Given the description of an element on the screen output the (x, y) to click on. 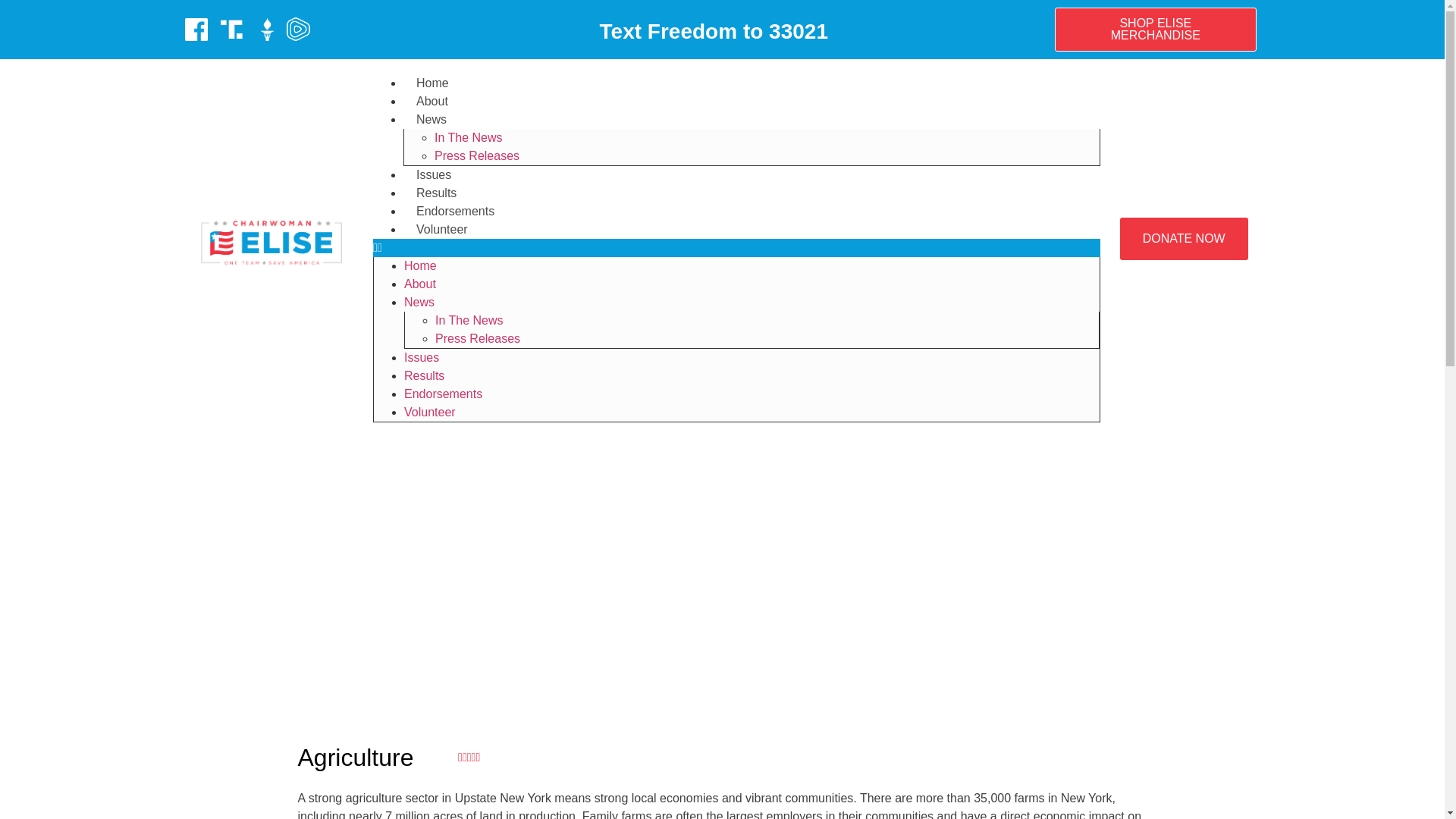
Results (435, 192)
Results (424, 375)
Home (420, 265)
facebook white (196, 29)
DONATE NOW (1183, 238)
In The News (467, 137)
Endorsements (454, 210)
About (419, 283)
News (418, 301)
SHOP ELISE MERCHANDISE (1155, 29)
